Given the description of an element on the screen output the (x, y) to click on. 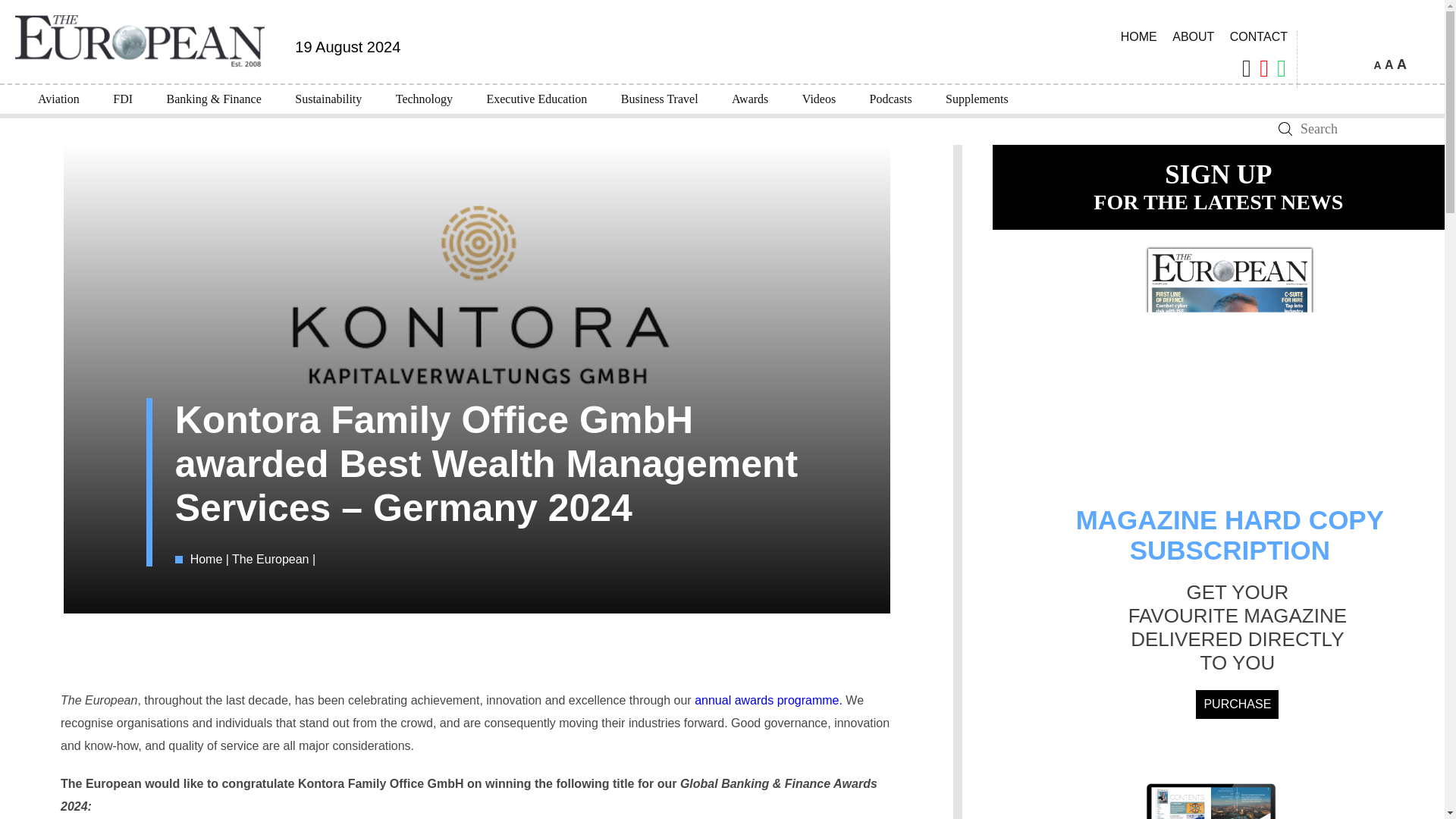
Aviation (58, 99)
annual awards programme. (768, 699)
The European (272, 558)
HOME (1139, 36)
FDI (122, 99)
Supplements (976, 99)
ABOUT (1193, 36)
Sustainability (328, 99)
Technology (423, 99)
Search (1284, 128)
